Given the description of an element on the screen output the (x, y) to click on. 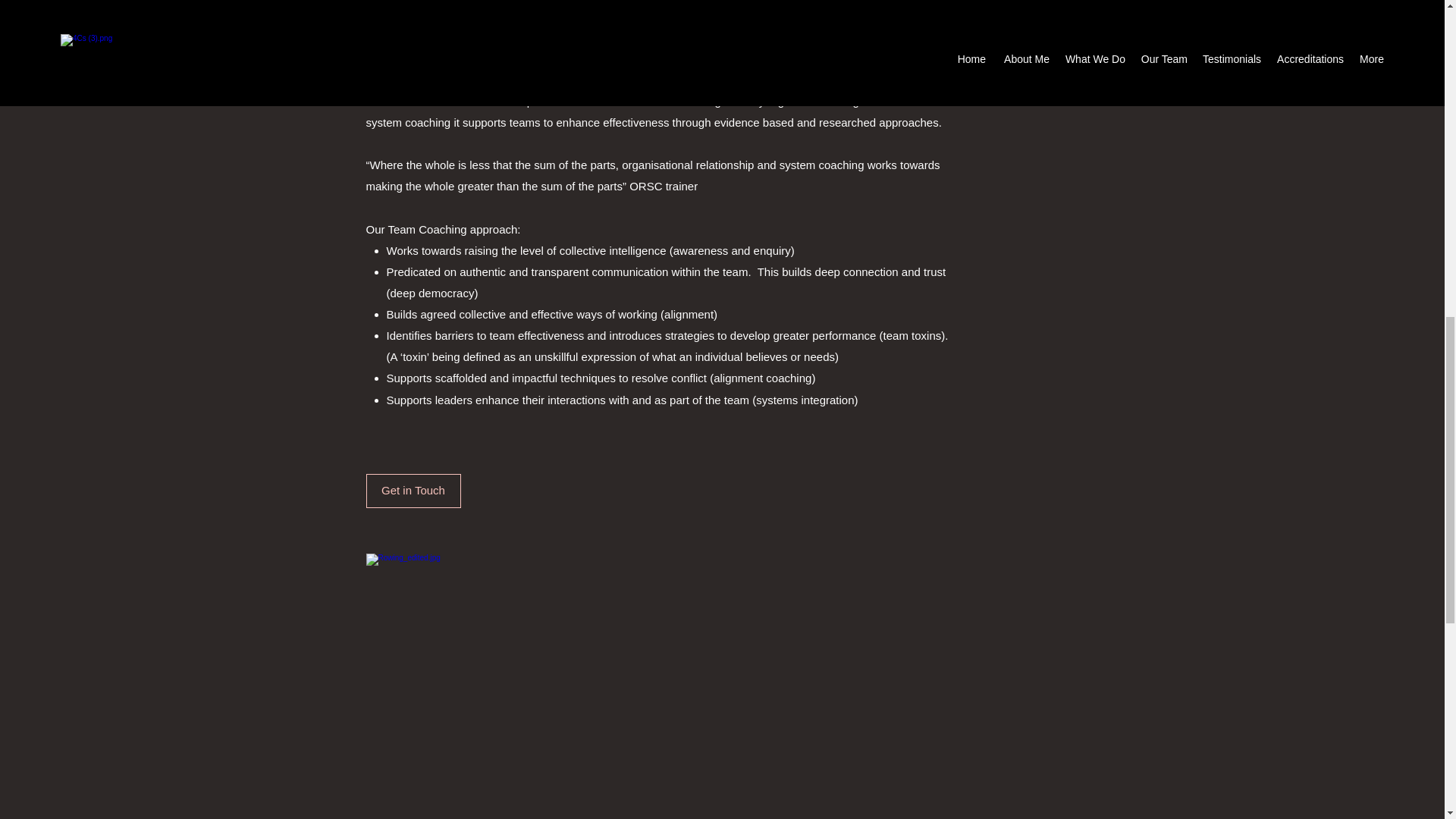
Get in Touch (412, 490)
